Given the description of an element on the screen output the (x, y) to click on. 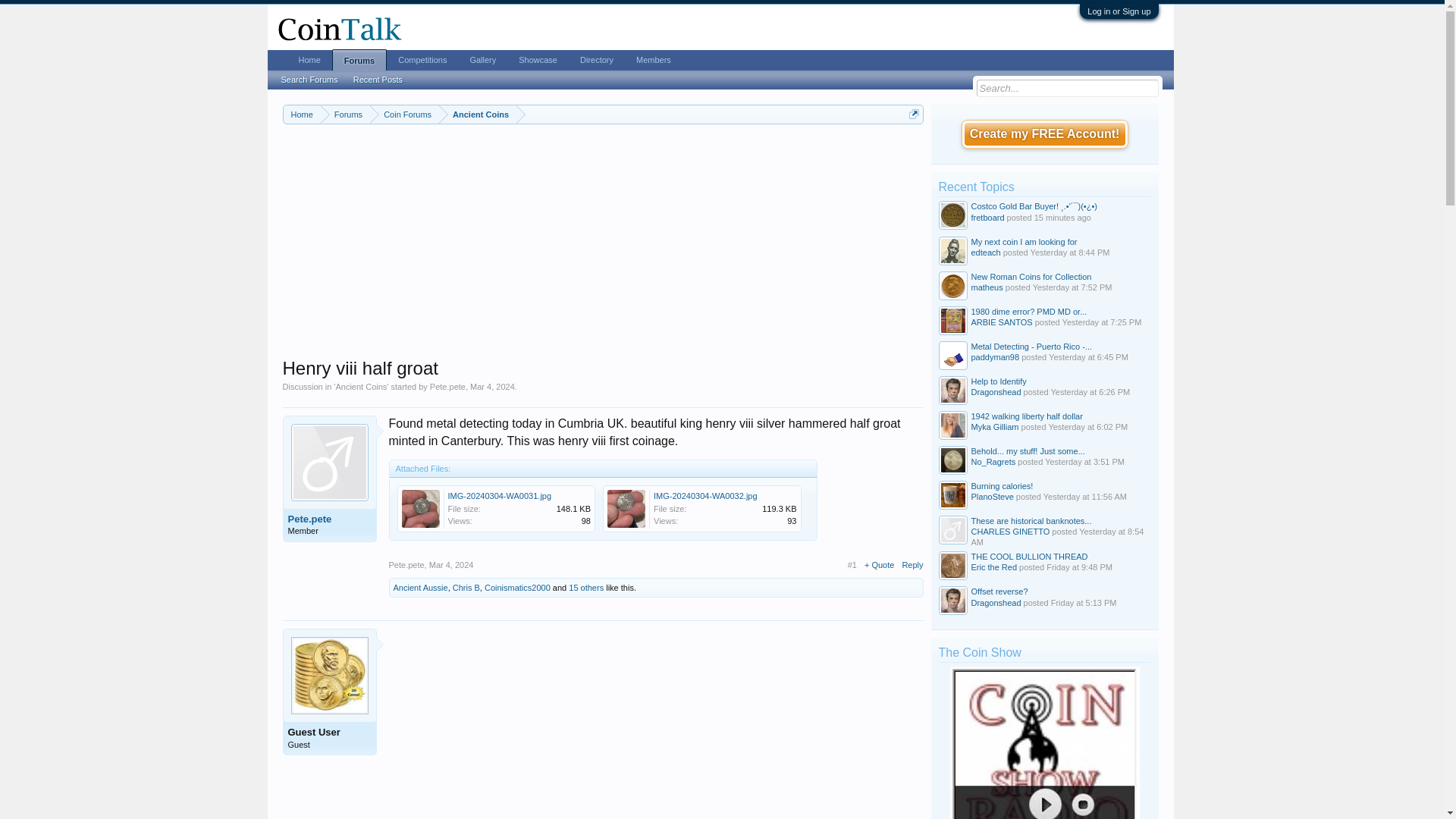
IMG-20240304-WA0032.jpg (705, 495)
Mar 4, 2024 at 5:20 PM (492, 386)
Advertisement (655, 723)
Mar 4, 2024 (492, 386)
IMG-20240304-WA0032.jpg (705, 512)
Permalink (451, 564)
Ancient Coins (360, 386)
Chris B (466, 587)
Home (301, 114)
Forums (344, 114)
15 others (586, 587)
Pete.pete (447, 386)
Mar 4, 2024 (451, 564)
Reply, quoting this message (912, 564)
